Given the description of an element on the screen output the (x, y) to click on. 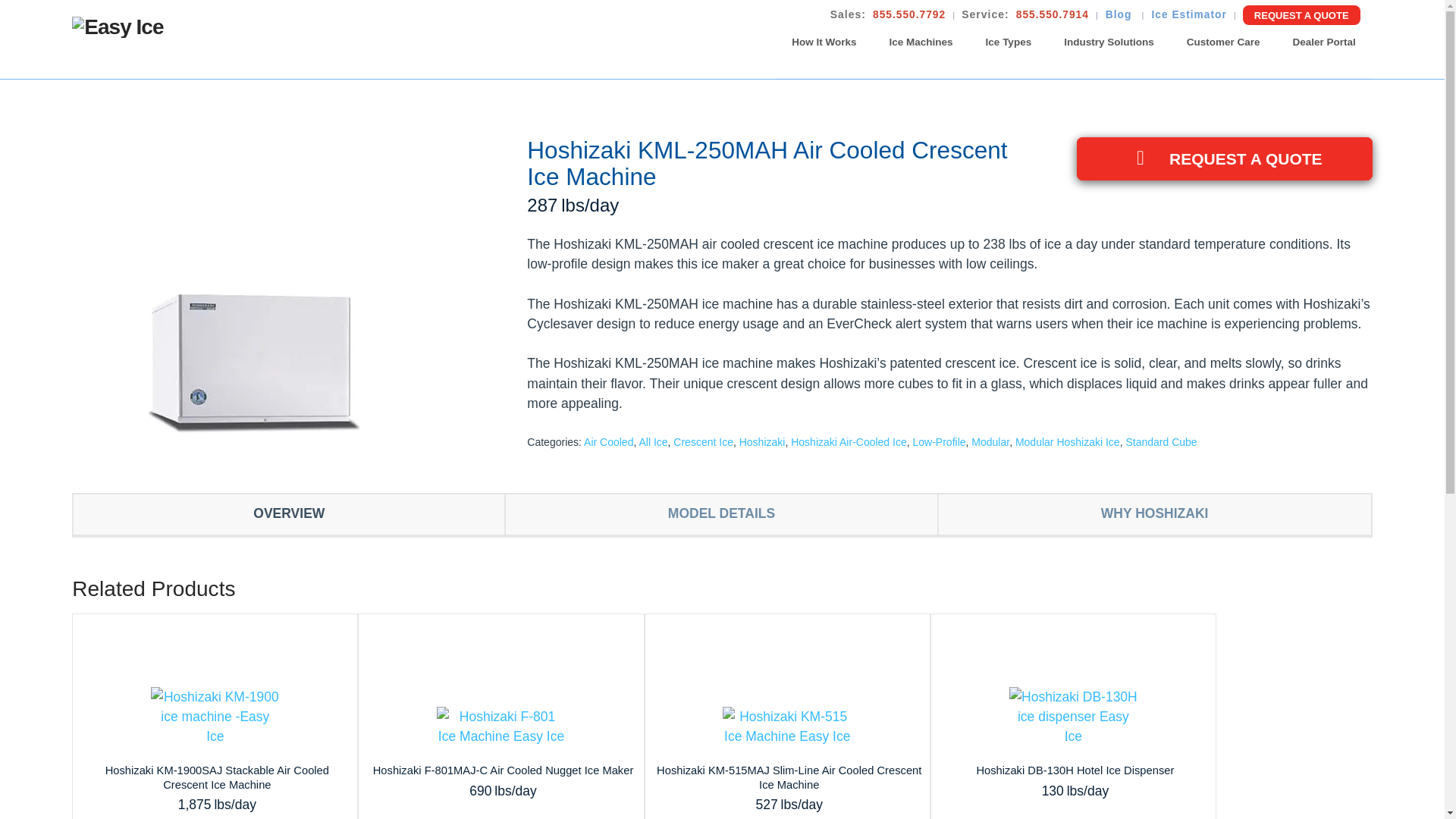
How It Works (824, 42)
Industry Solutions (1109, 42)
Call Our Service Team  (1052, 14)
855.550.7914 (1052, 14)
855.550.7792 (909, 14)
Call Our Sales Team  (909, 14)
Ice Types (1008, 42)
Ice Estimator (1188, 14)
Ice Machines (921, 42)
Blog (1120, 14)
